Given the description of an element on the screen output the (x, y) to click on. 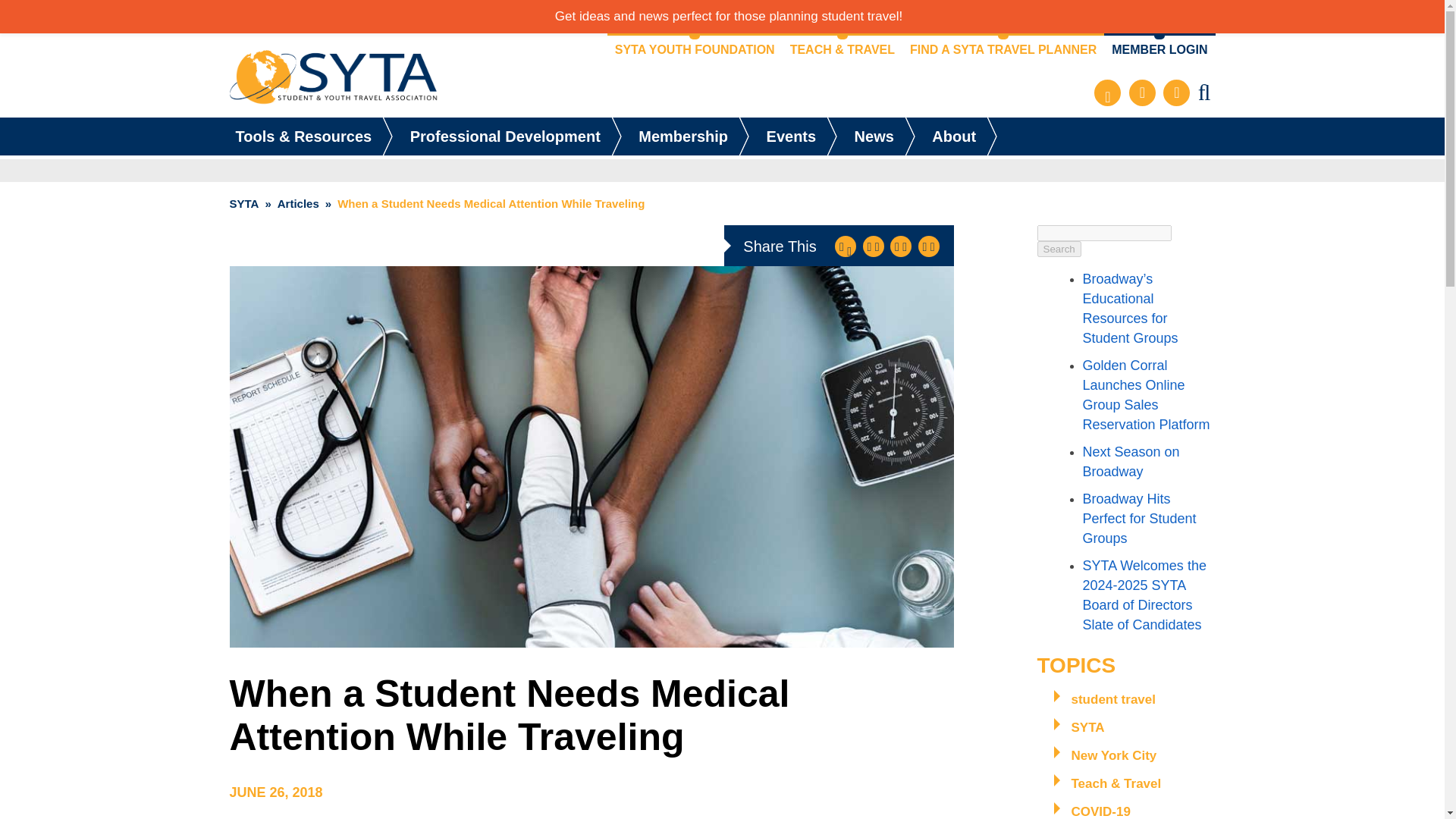
Go to the Articles category archives. (298, 203)
FIND A SYTA TRAVEL PLANNER (1002, 49)
Go to SYTA. (243, 203)
MEMBER LOGIN (1158, 49)
Search (1058, 248)
SYTA YOUTH FOUNDATION (695, 49)
